Given the description of an element on the screen output the (x, y) to click on. 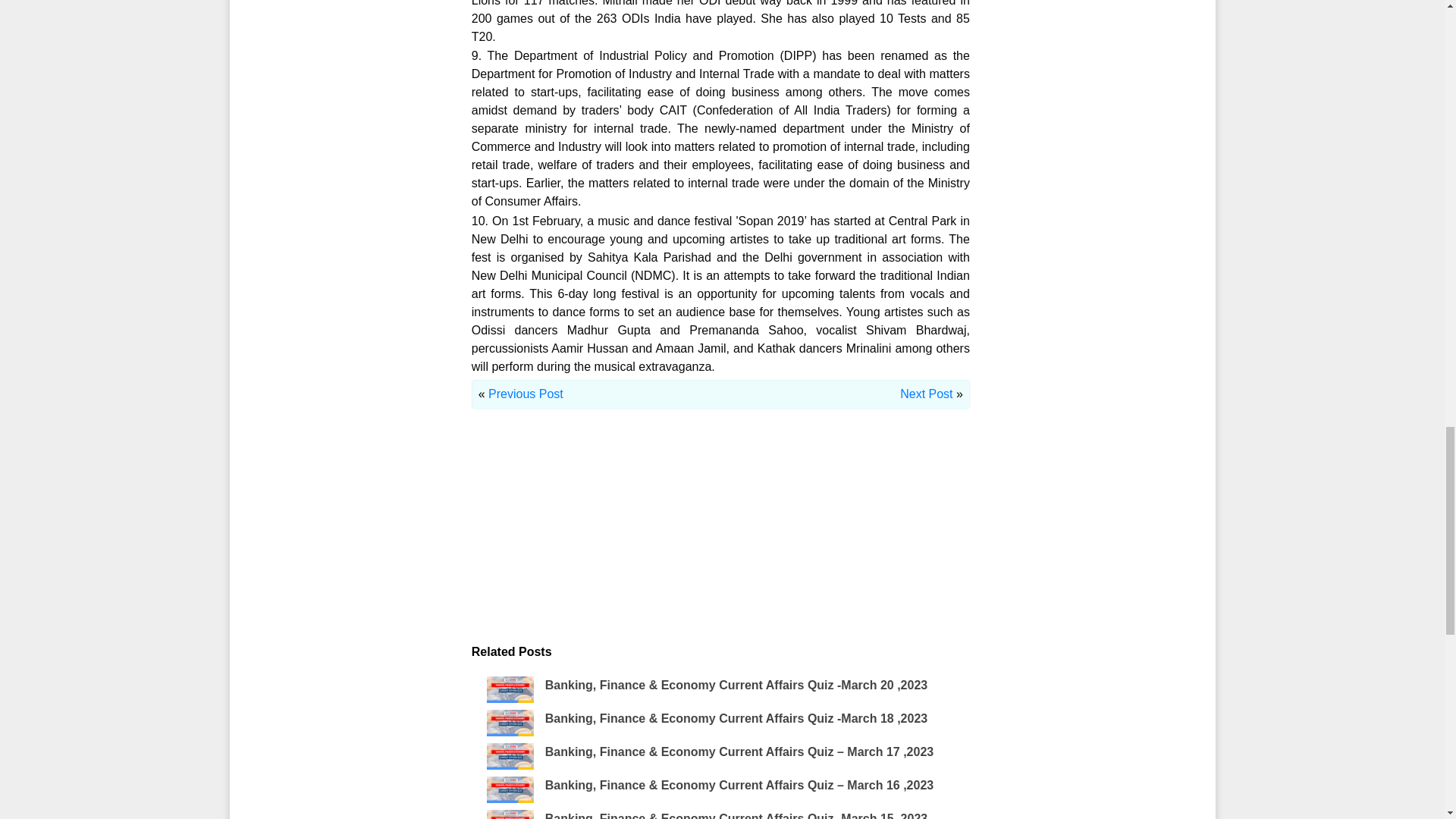
Next Post (925, 393)
Advertisement (720, 536)
Previous Post (525, 393)
